Given the description of an element on the screen output the (x, y) to click on. 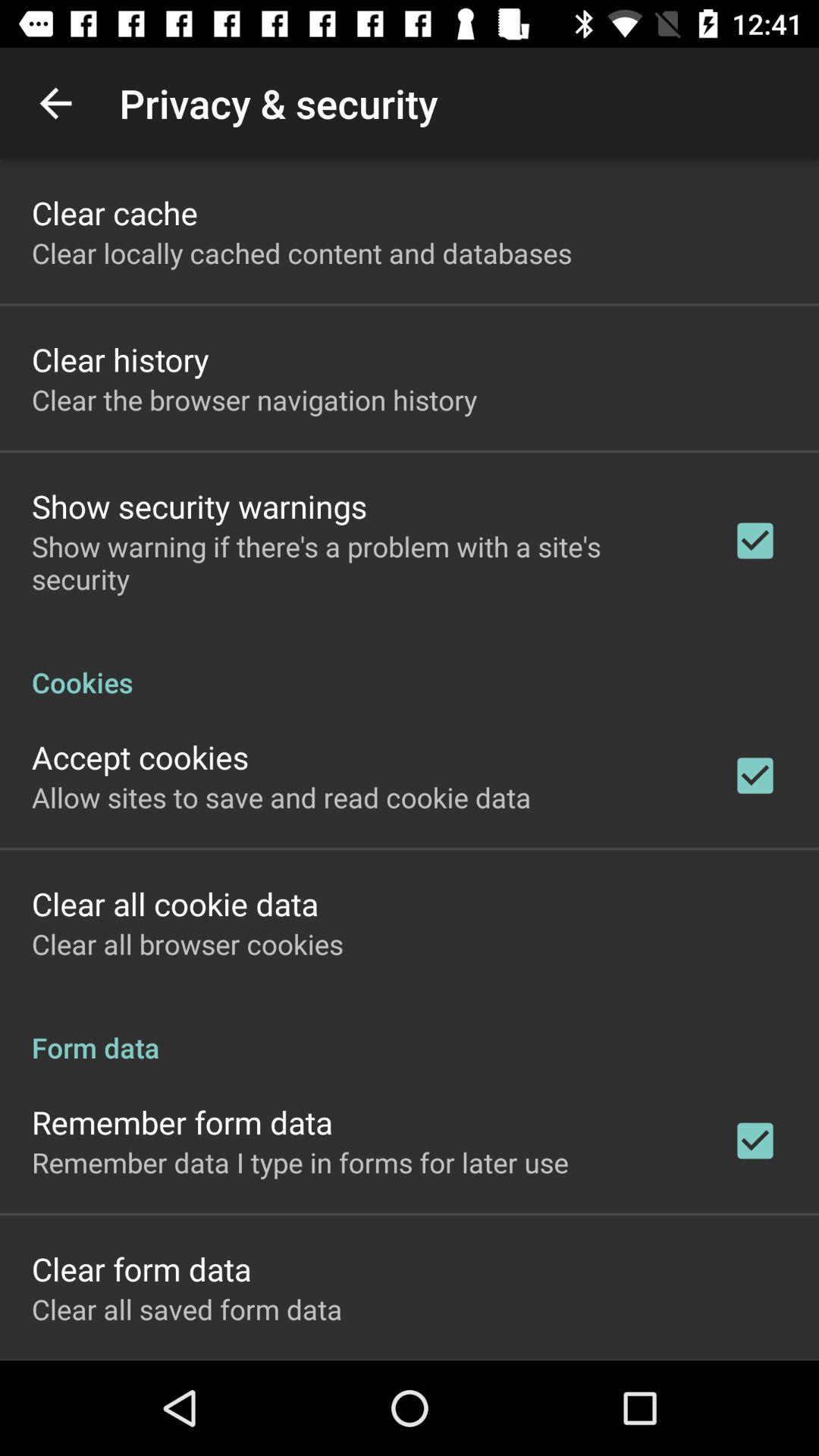
open clear cache item (114, 212)
